Given the description of an element on the screen output the (x, y) to click on. 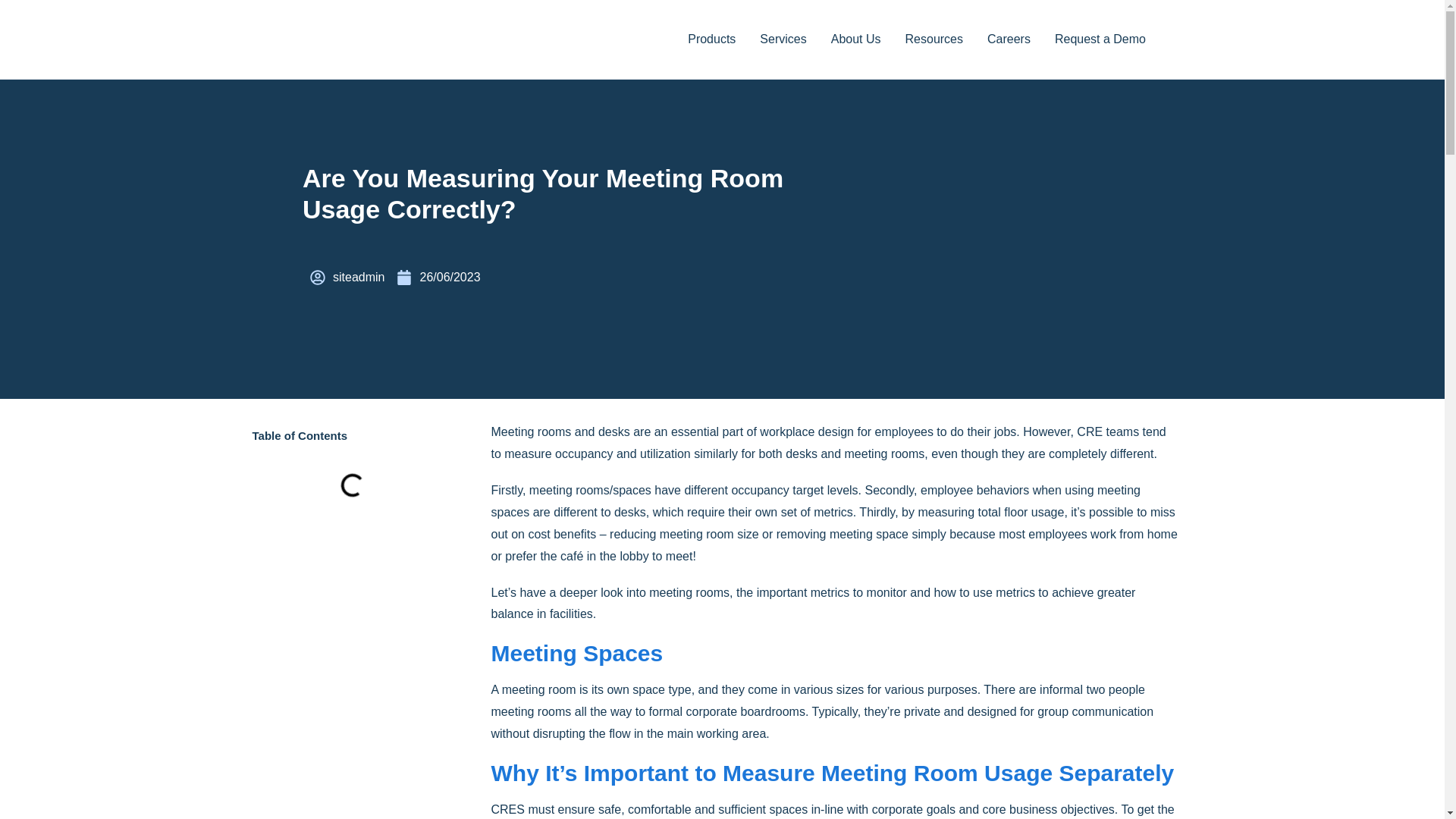
Request a Demo (1099, 39)
Services (783, 39)
About Us (855, 39)
Careers (1008, 39)
Products (711, 39)
Resources (933, 39)
